Given the description of an element on the screen output the (x, y) to click on. 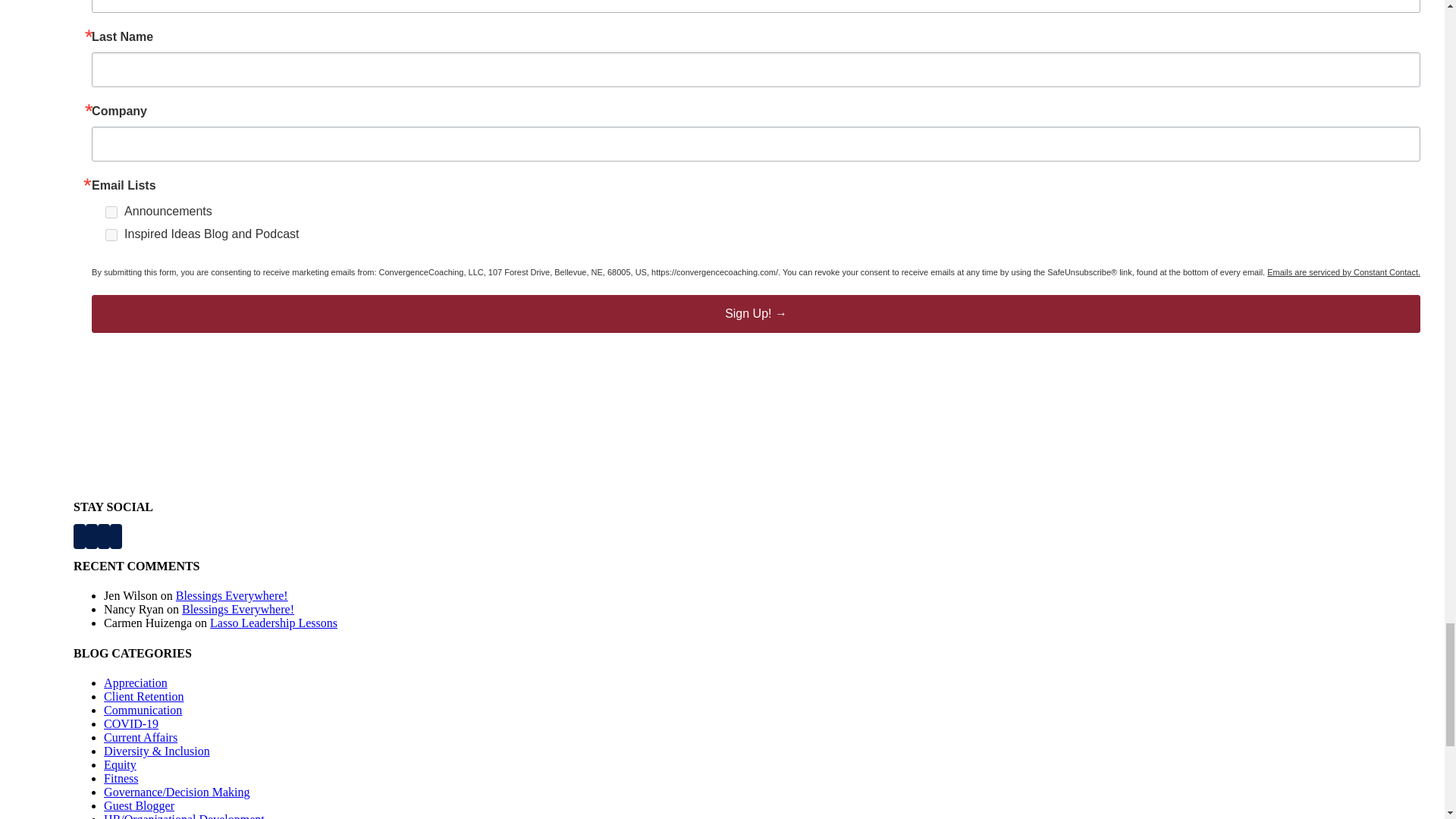
91ca98c0-7d56-11e3-af62-d4ae52710c75 (110, 212)
419c3c40-6941-11ea-8592-d4ae52710c75 (110, 234)
